Given the description of an element on the screen output the (x, y) to click on. 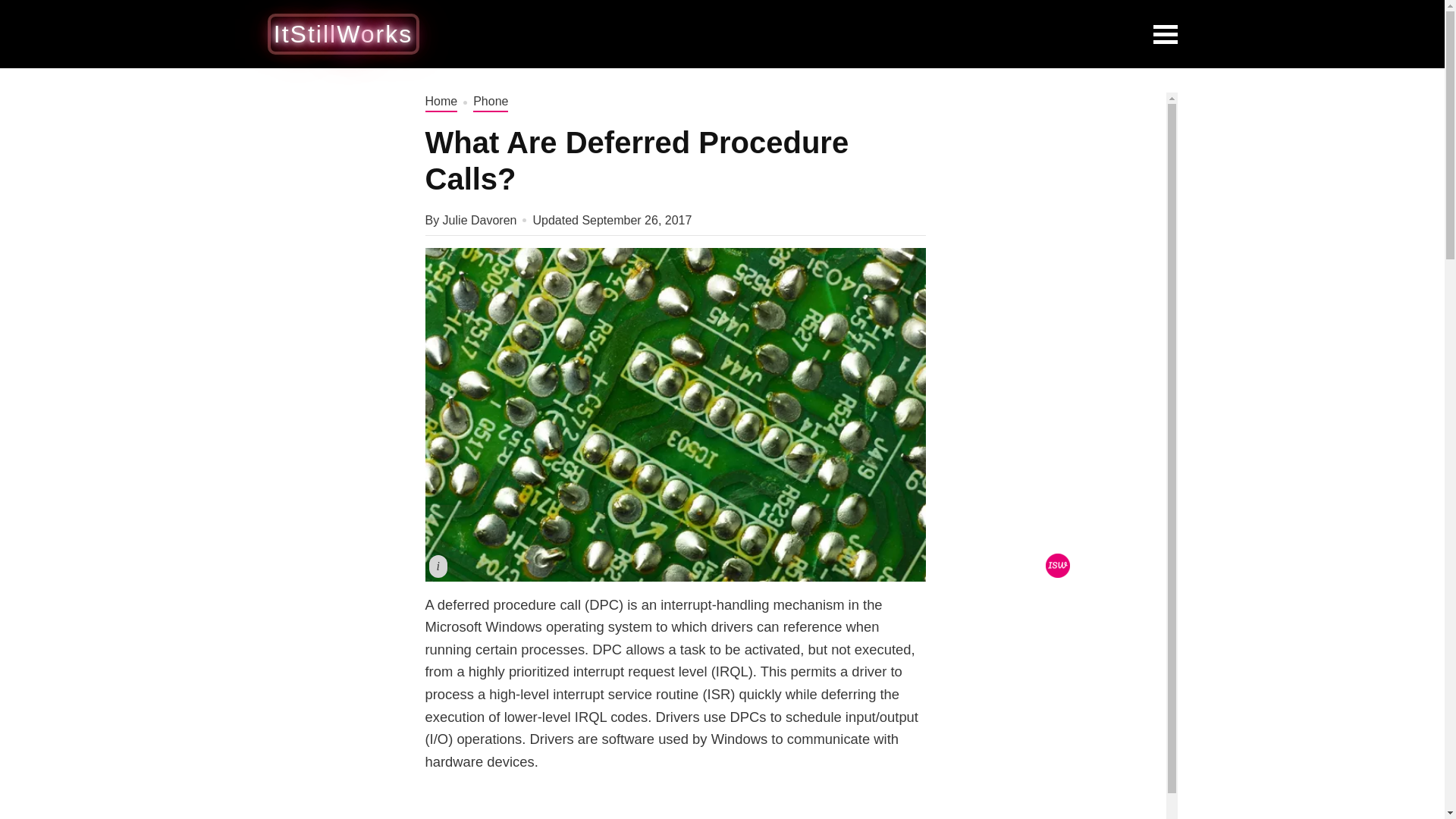
ItStillWorks (342, 33)
Phone (490, 102)
Home (441, 102)
